Given the description of an element on the screen output the (x, y) to click on. 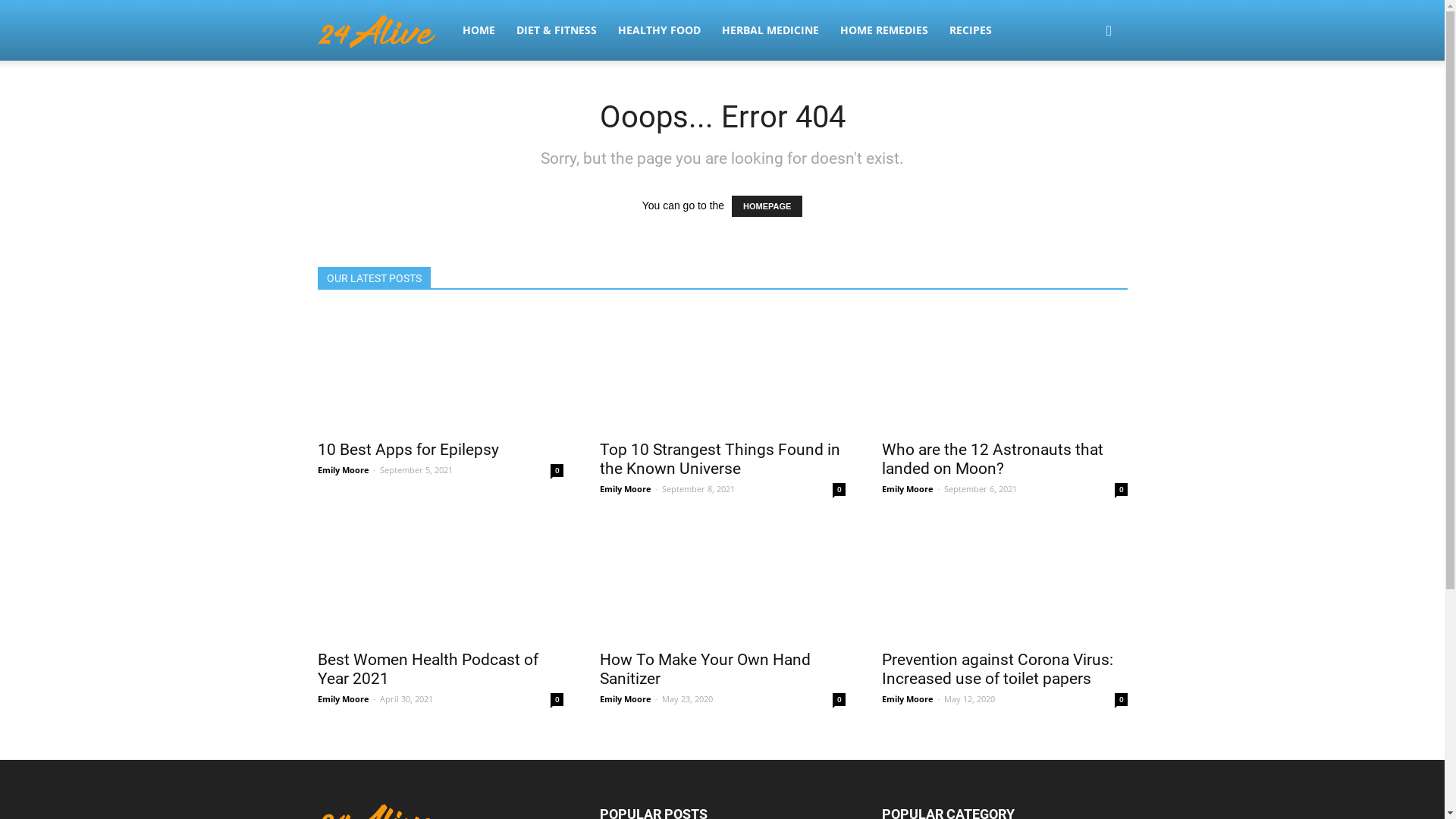
Emily Moore Element type: text (342, 698)
0 Element type: text (1120, 489)
HOME Element type: text (478, 30)
Best Women Health Podcast of Year 2021 Element type: text (426, 668)
HERBAL MEDICINE Element type: text (770, 30)
0 Element type: text (556, 699)
10 Best Apps for Epilepsy Element type: hover (439, 369)
10 Best Apps for Epilepsy Element type: text (407, 449)
Emily Moore Element type: text (624, 488)
HOME REMEDIES Element type: text (883, 30)
Emily Moore Element type: text (624, 698)
Emily Moore Element type: text (906, 698)
Emily Moore Element type: text (906, 488)
Who are the 12 Astronauts that landed on Moon? Element type: hover (1003, 369)
How To Make Your Own Hand Sanitizer Element type: hover (721, 579)
Emily Moore Element type: text (342, 469)
Search Element type: text (1085, 103)
HOMEPAGE Element type: text (766, 205)
Top 10 Strangest Things Found in the Known Universe Element type: text (719, 458)
Best Women Health Podcast of Year 2021 Element type: hover (439, 579)
24 Alive Element type: text (383, 29)
How To Make Your Own Hand Sanitizer Element type: text (704, 668)
0 Element type: text (1120, 699)
0 Element type: text (838, 699)
HEALTHY FOOD Element type: text (658, 30)
0 Element type: text (556, 470)
DIET & FITNESS Element type: text (555, 30)
RECIPES Element type: text (970, 30)
Top 10 Strangest Things Found in the Known Universe Element type: hover (721, 369)
Who are the 12 Astronauts that landed on Moon? Element type: text (991, 458)
0 Element type: text (838, 489)
